Given the description of an element on the screen output the (x, y) to click on. 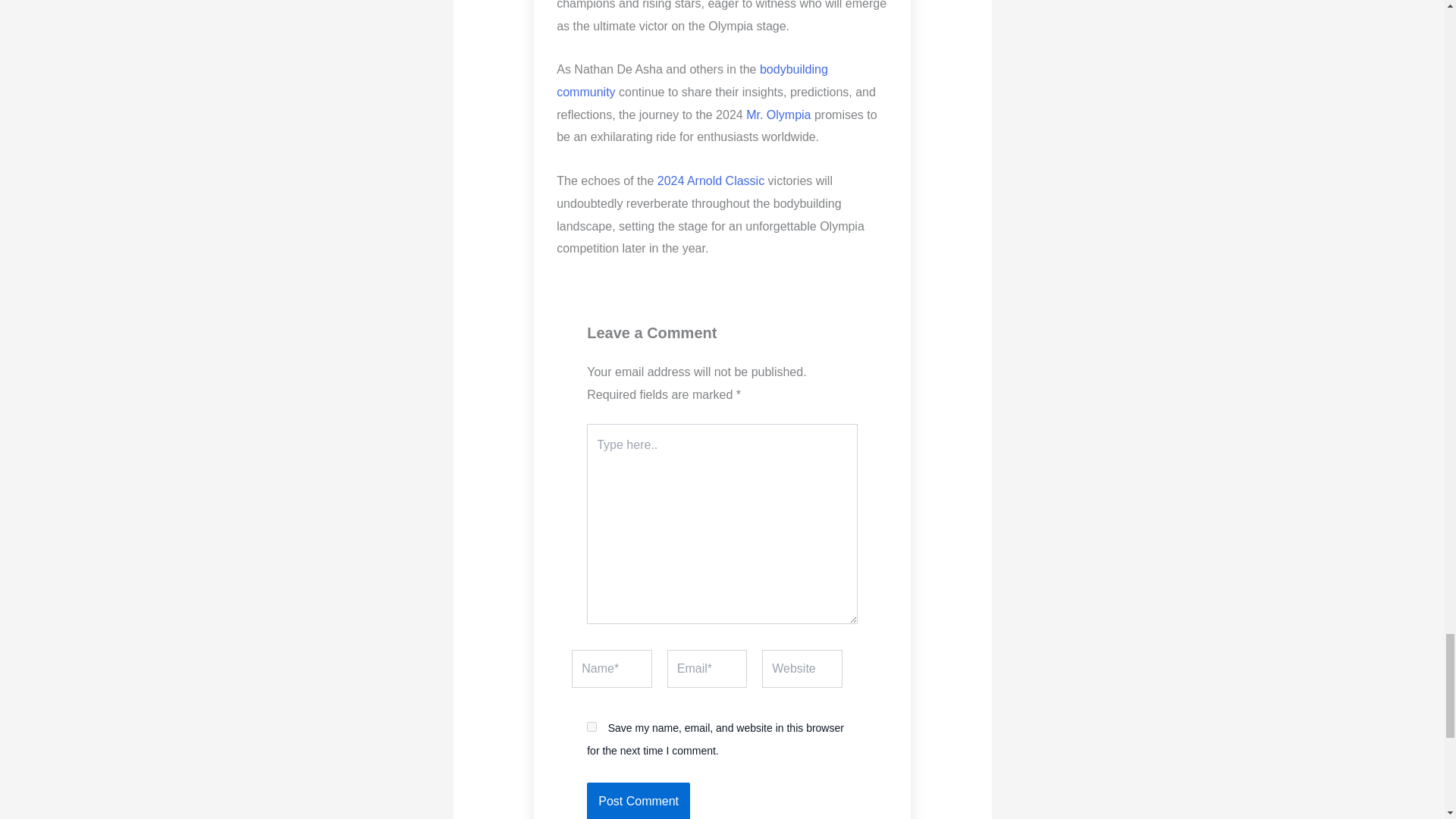
Post Comment (638, 800)
yes (591, 726)
